Given the description of an element on the screen output the (x, y) to click on. 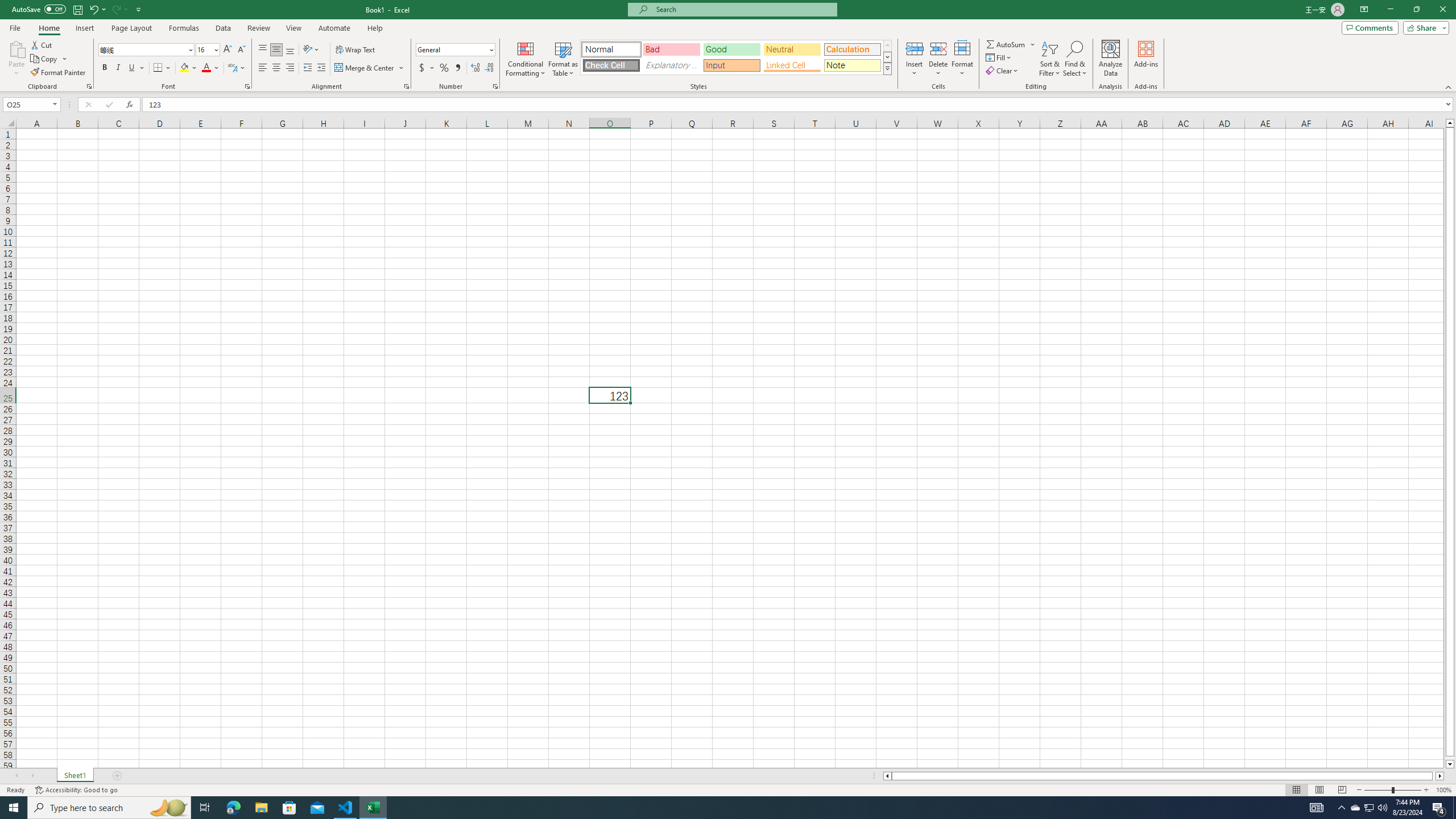
Format Painter (58, 72)
Insert Cells (914, 48)
Conditional Formatting (525, 58)
Align Right (290, 67)
Format Cell Number (494, 85)
Show Phonetic Field (236, 67)
Number Format (455, 49)
AutoSum (1011, 44)
